Given the description of an element on the screen output the (x, y) to click on. 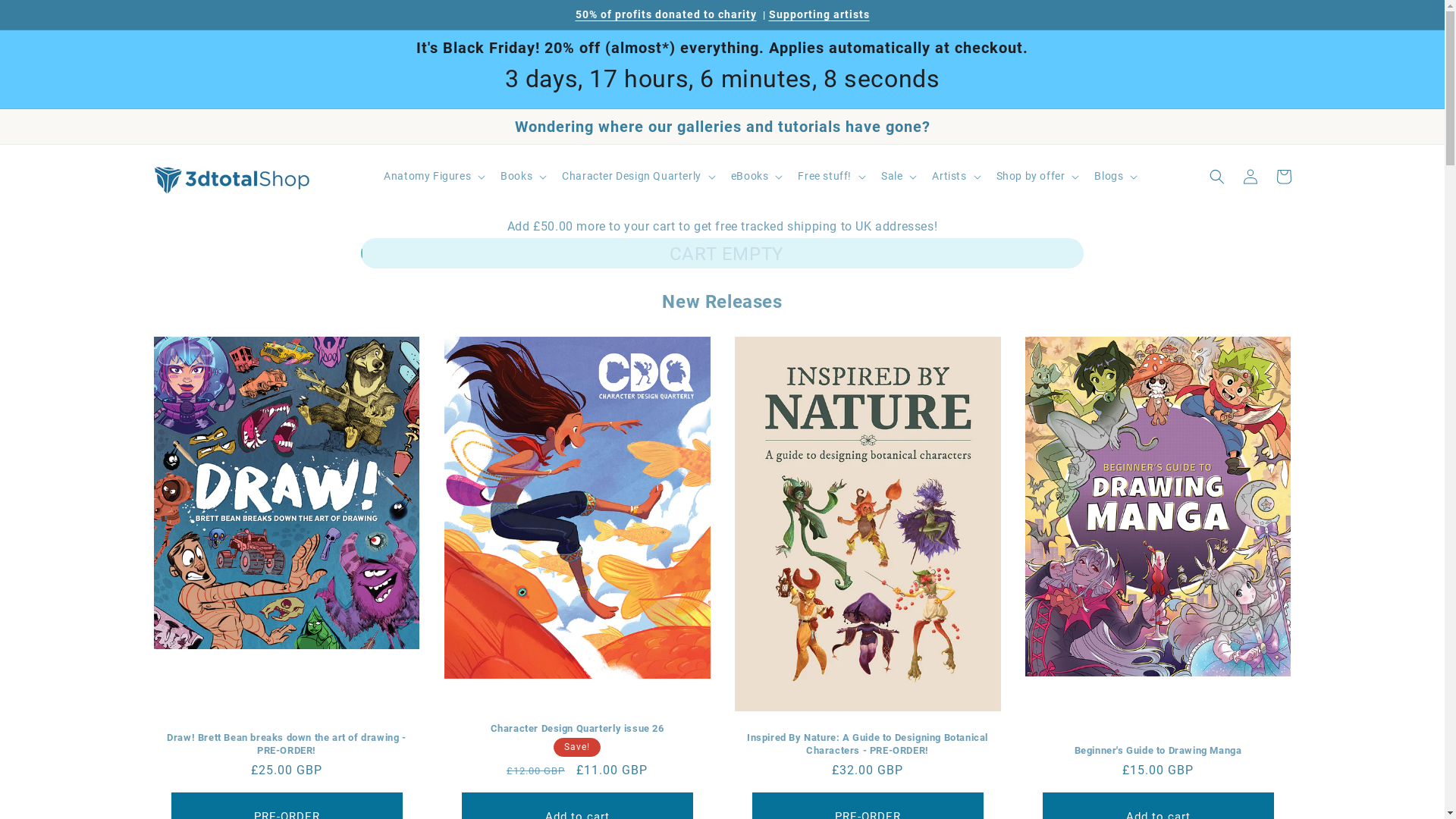
Supporting artists Element type: text (818, 14)
Character Design Quarterly issue 26 Element type: text (576, 728)
Draw! Brett Bean breaks down the art of drawing - PRE-ORDER! Element type: text (285, 744)
Beginner's Guide to Drawing Manga Element type: text (1157, 750)
Log in Element type: text (1249, 176)
Wondering where our galleries and tutorials have gone? Element type: text (722, 126)
50% of profits donated to charity Element type: text (665, 14)
Cart Element type: text (1282, 176)
